Given the description of an element on the screen output the (x, y) to click on. 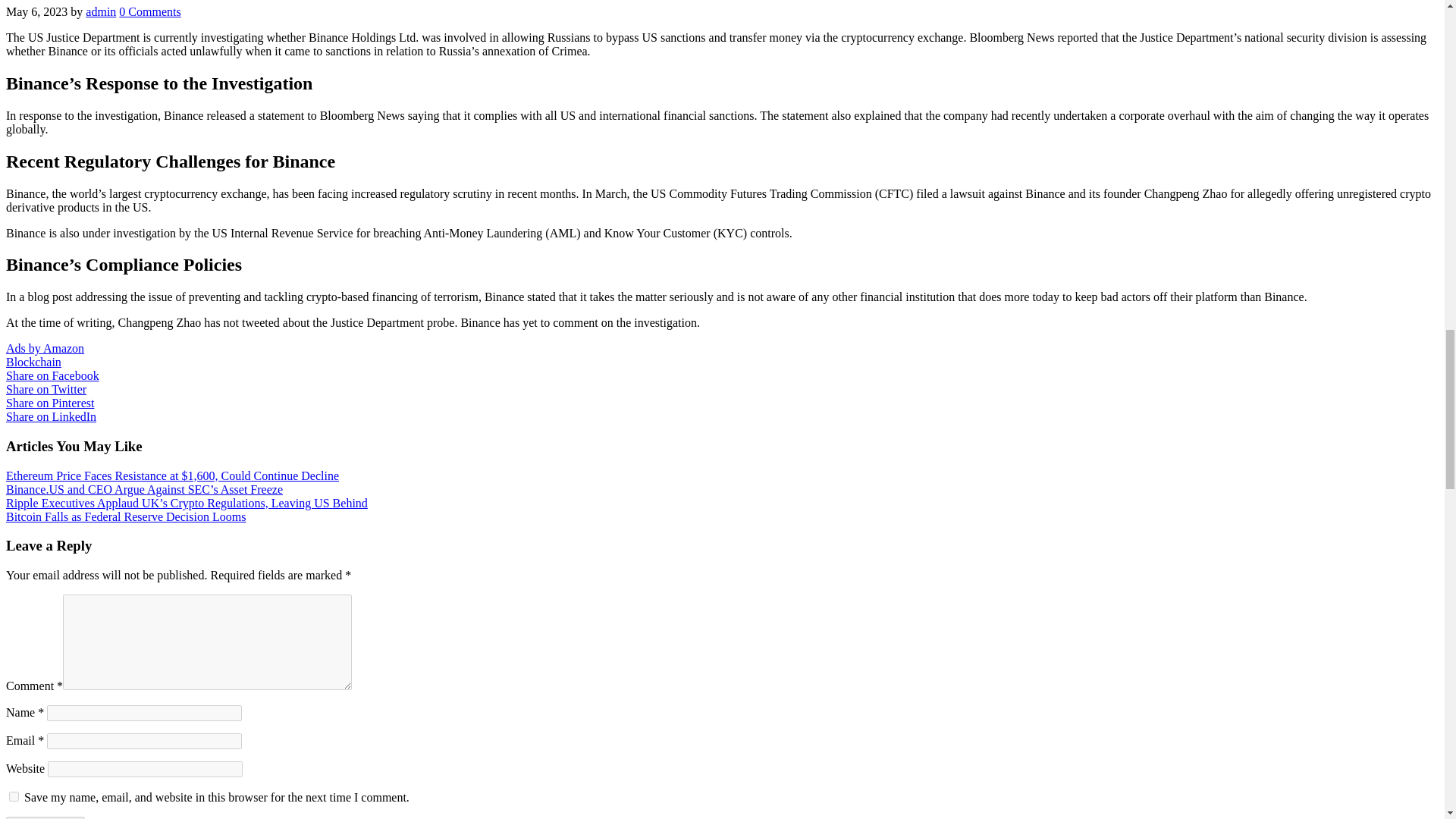
yes (13, 796)
Blockchain (33, 361)
Post Comment (44, 817)
